Given the description of an element on the screen output the (x, y) to click on. 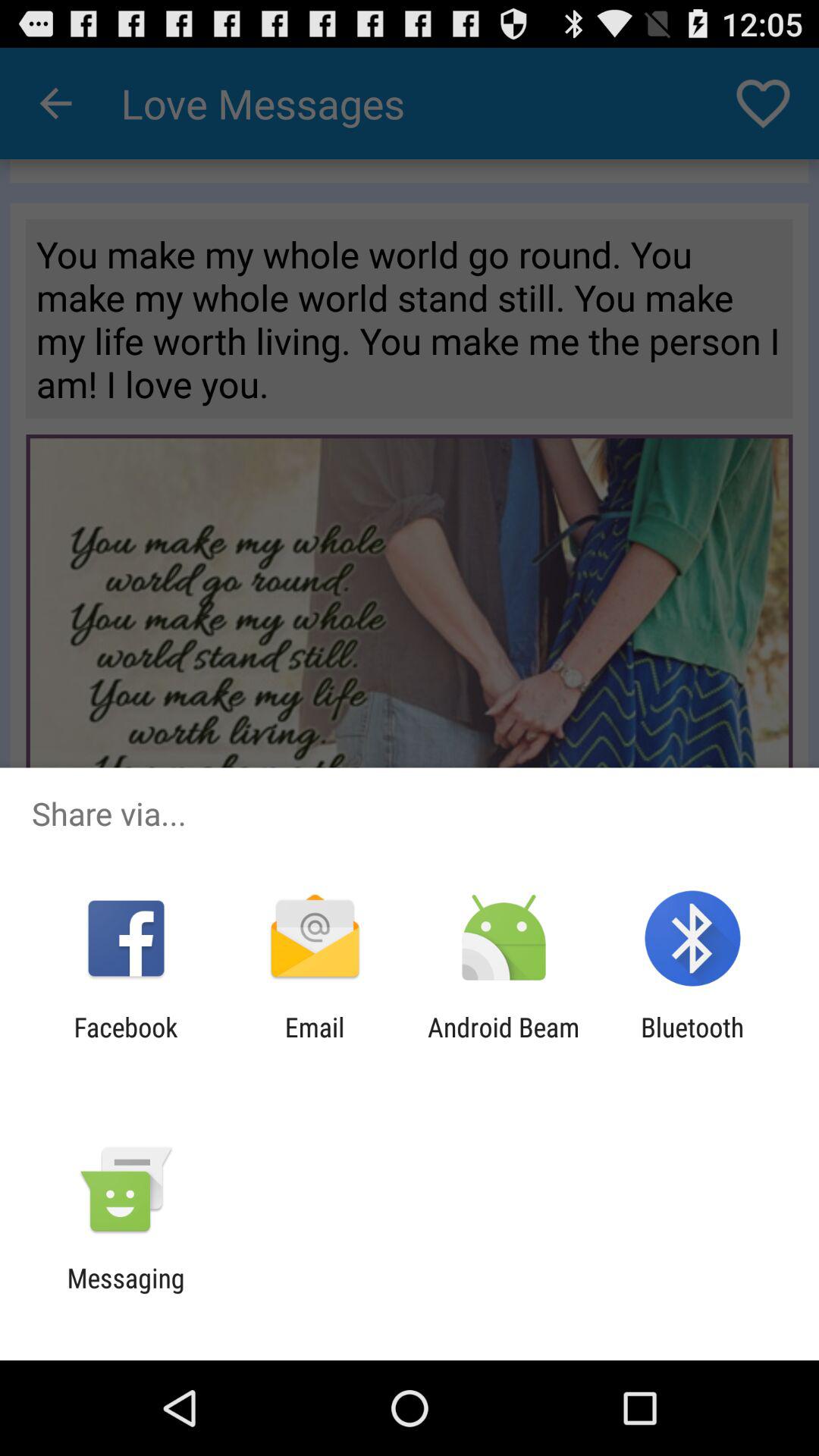
tap email (314, 1042)
